Given the description of an element on the screen output the (x, y) to click on. 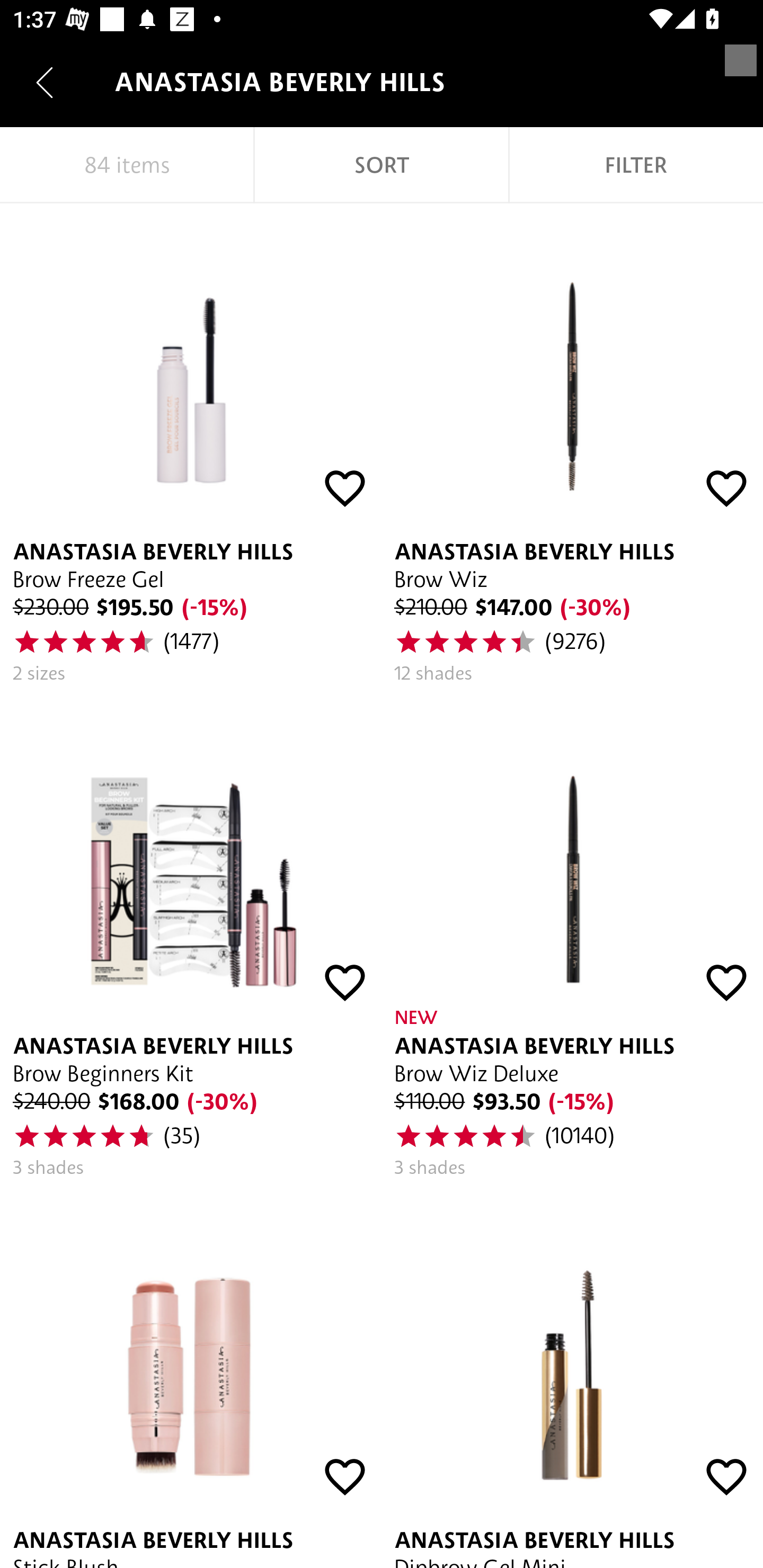
Navigate up (44, 82)
SORT (381, 165)
FILTER (636, 165)
ANASTASIA BEVERLY HILLS Stick Blush (190, 1379)
ANASTASIA BEVERLY HILLS Dipbrow Gel Mini (572, 1379)
